Given the description of an element on the screen output the (x, y) to click on. 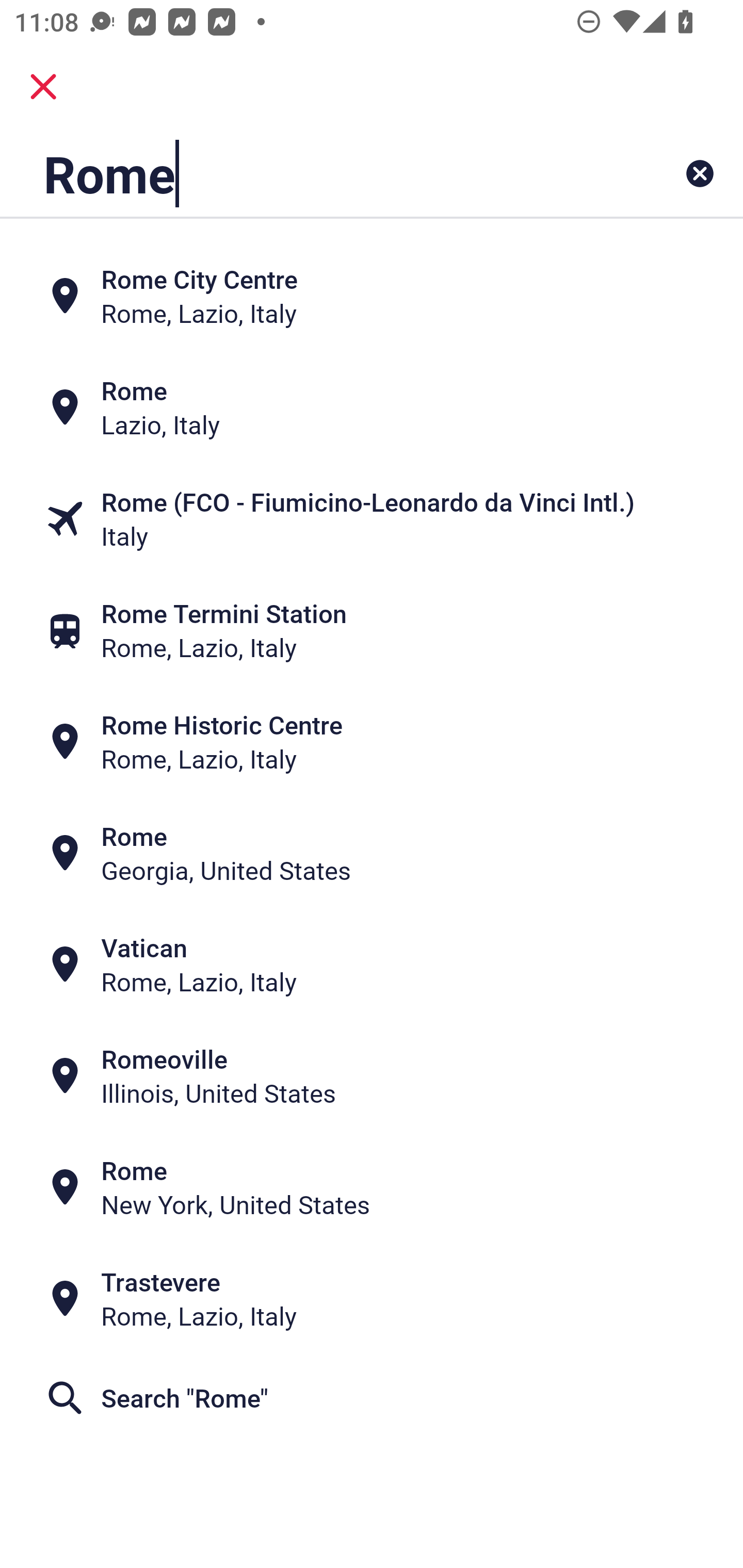
close. (43, 86)
Clear (699, 173)
Rome (306, 173)
Rome City Centre Rome, Lazio, Italy (371, 295)
Rome Lazio, Italy (371, 406)
Rome Termini Station Rome, Lazio, Italy (371, 629)
Rome Historic Centre Rome, Lazio, Italy (371, 742)
Rome Georgia, United States (371, 853)
Vatican Rome, Lazio, Italy (371, 964)
Romeoville Illinois, United States (371, 1076)
Rome New York, United States (371, 1187)
Trastevere Rome, Lazio, Italy (371, 1298)
Search "Rome" (371, 1397)
